Given the description of an element on the screen output the (x, y) to click on. 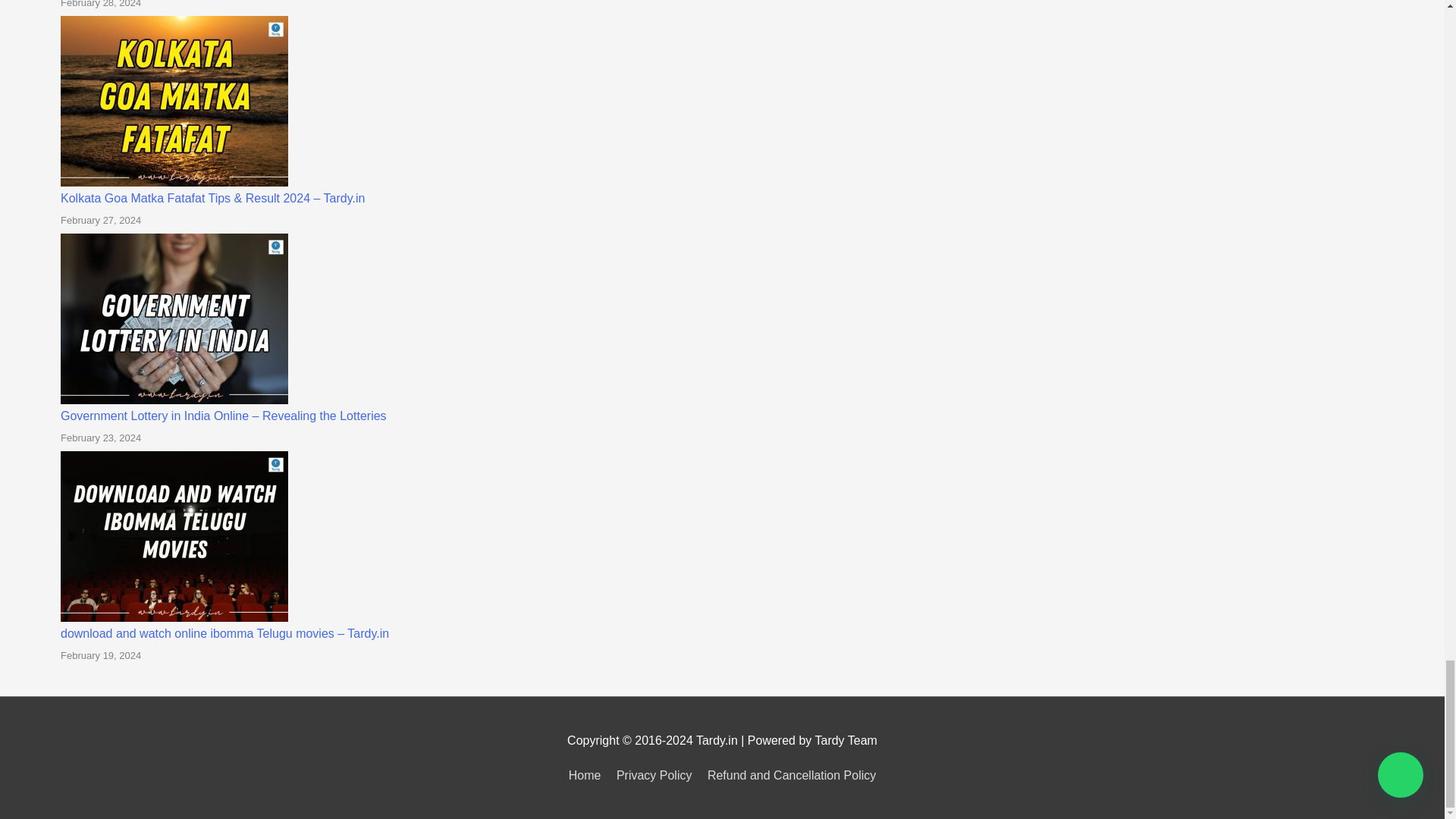
Home (588, 775)
Refund and Cancellation Policy (788, 775)
Privacy Policy (654, 775)
